Given the description of an element on the screen output the (x, y) to click on. 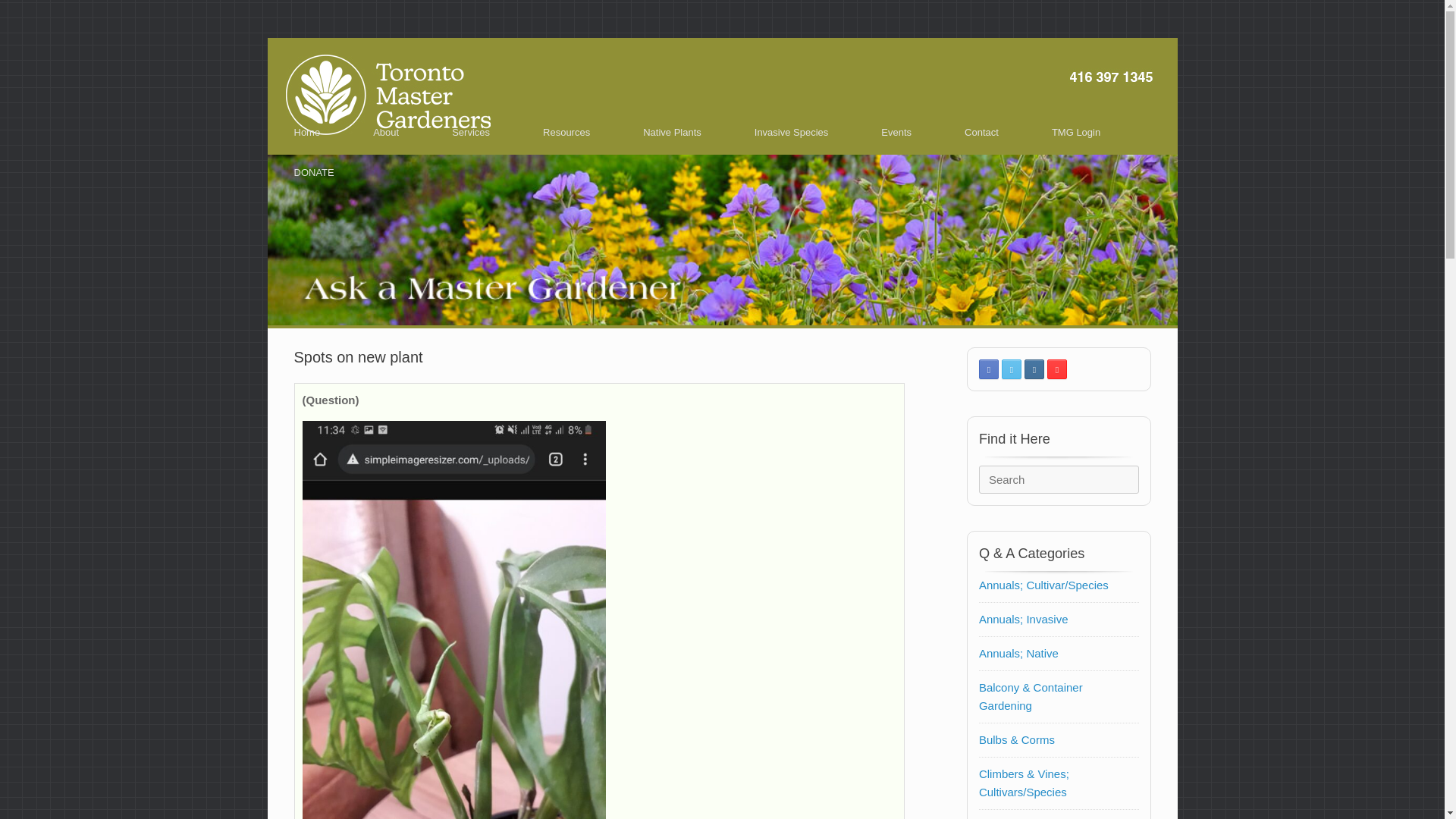
Contact (981, 132)
Services (470, 132)
About (385, 132)
Annuals; Native (1018, 653)
Home (306, 132)
Events (895, 132)
Native Plants (671, 132)
Toronto Master Gardeners YouTube (1056, 369)
Resources (565, 132)
TMG Login (1075, 132)
